Given the description of an element on the screen output the (x, y) to click on. 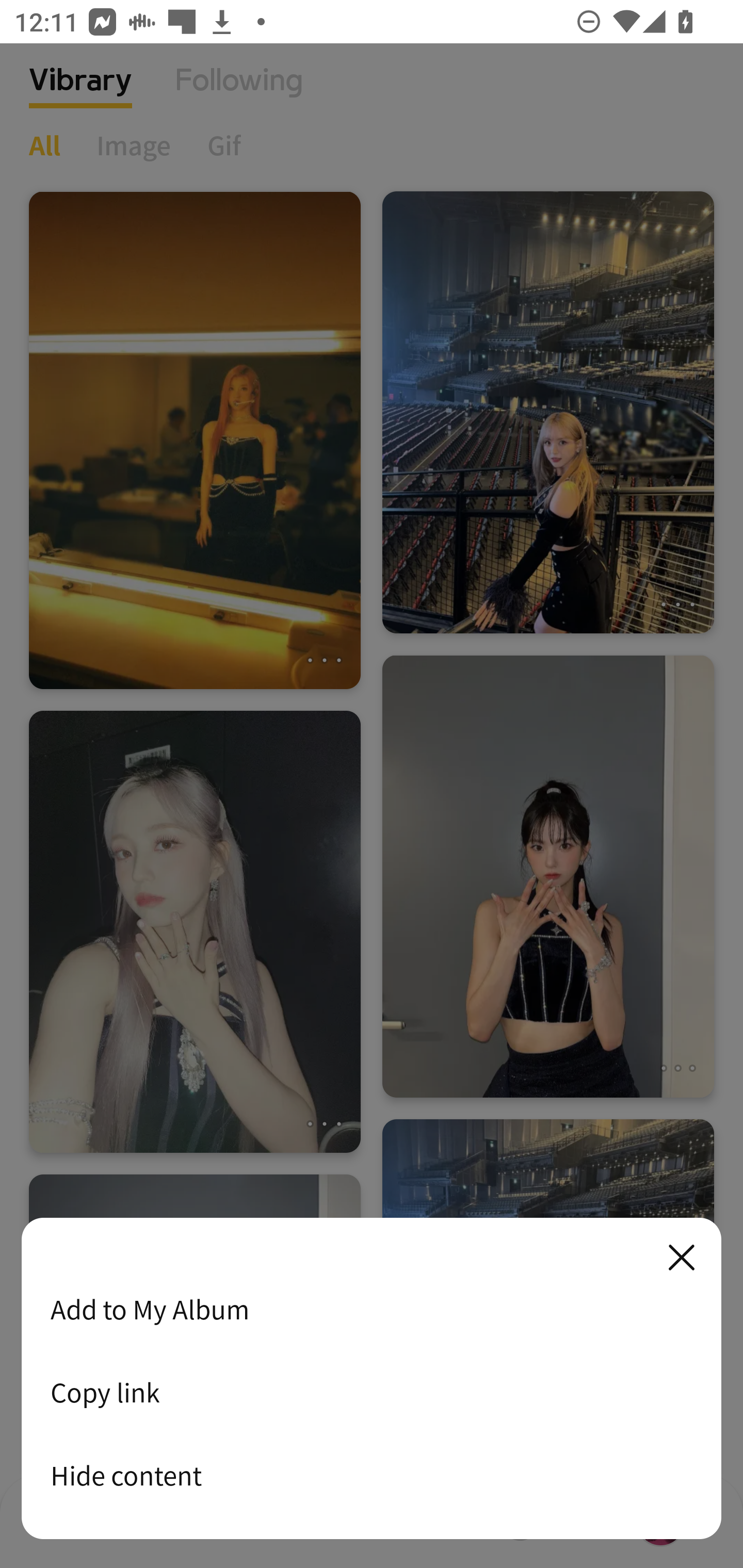
Add to My Album Copy link Hide content (371, 1378)
Add to My Album (371, 1308)
Copy link (371, 1391)
Hide content (371, 1474)
